Given the description of an element on the screen output the (x, y) to click on. 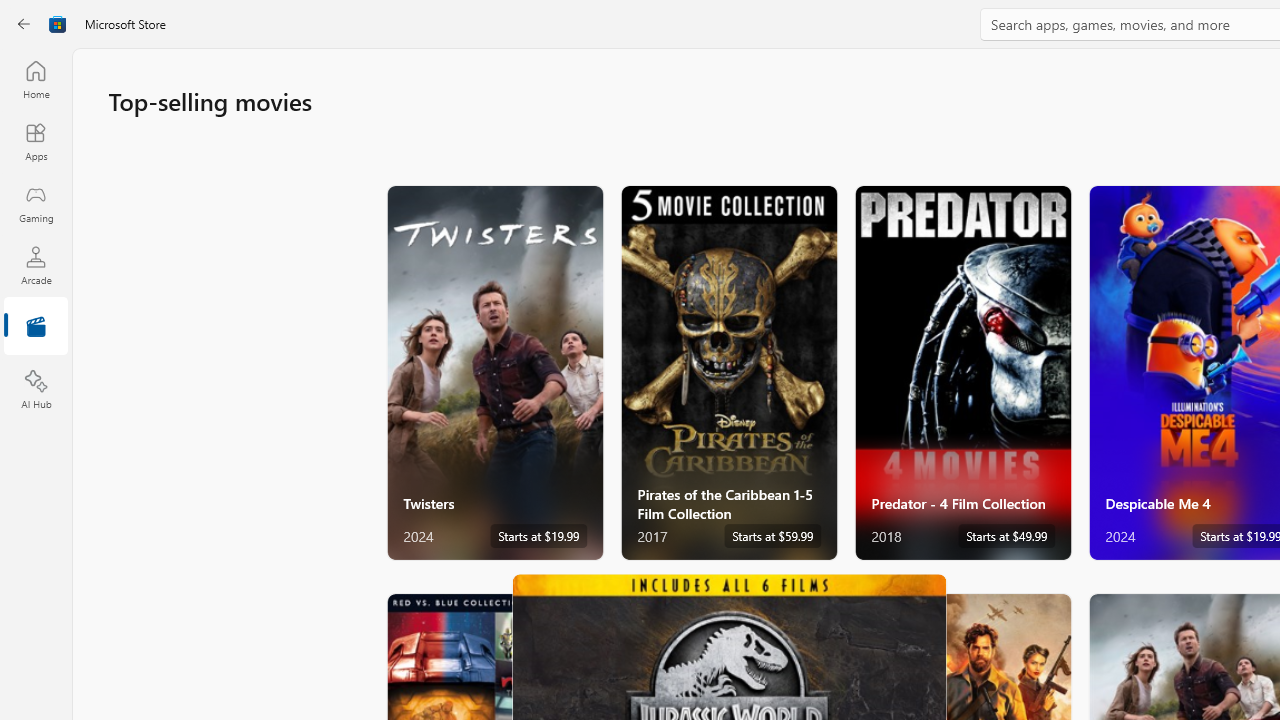
Class: Image (58, 24)
Gaming (35, 203)
Entertainment (35, 327)
Back (24, 24)
Apps (35, 141)
Arcade (35, 265)
AI Hub (35, 390)
Home (35, 79)
